Given the description of an element on the screen output the (x, y) to click on. 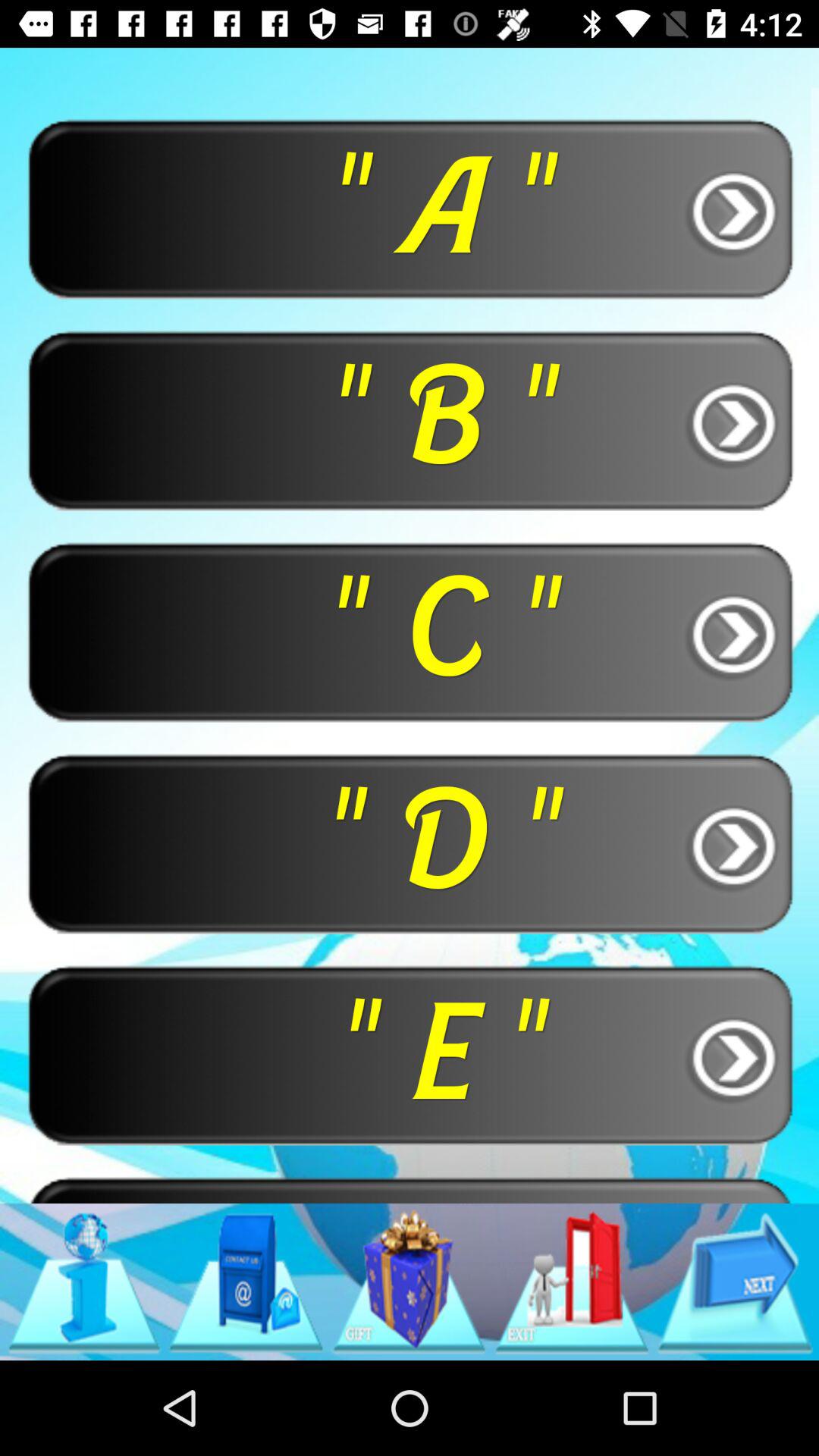
search the internet (83, 1281)
